Given the description of an element on the screen output the (x, y) to click on. 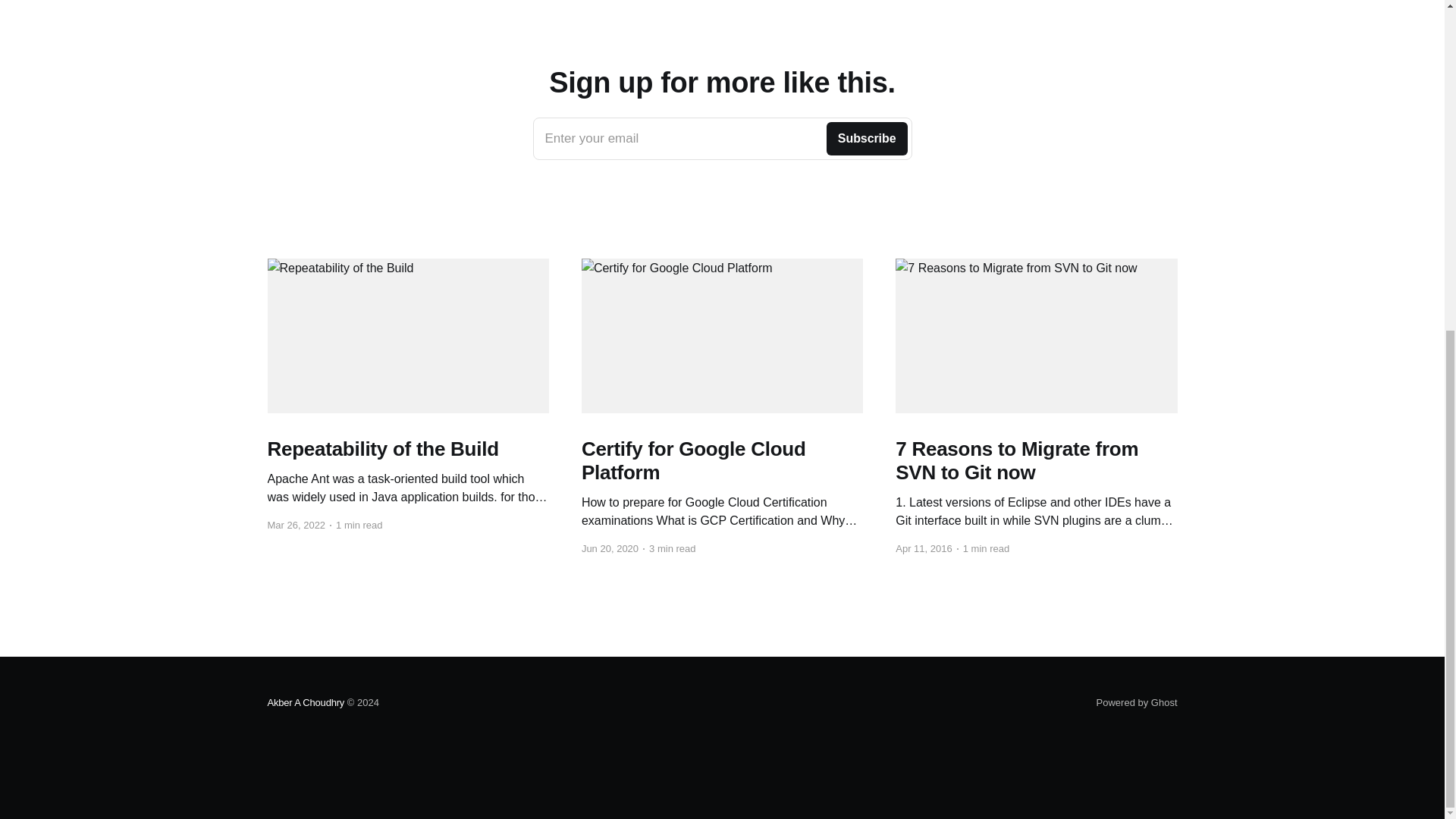
Powered by Ghost (721, 138)
Akber A Choudhry (1136, 702)
